Given the description of an element on the screen output the (x, y) to click on. 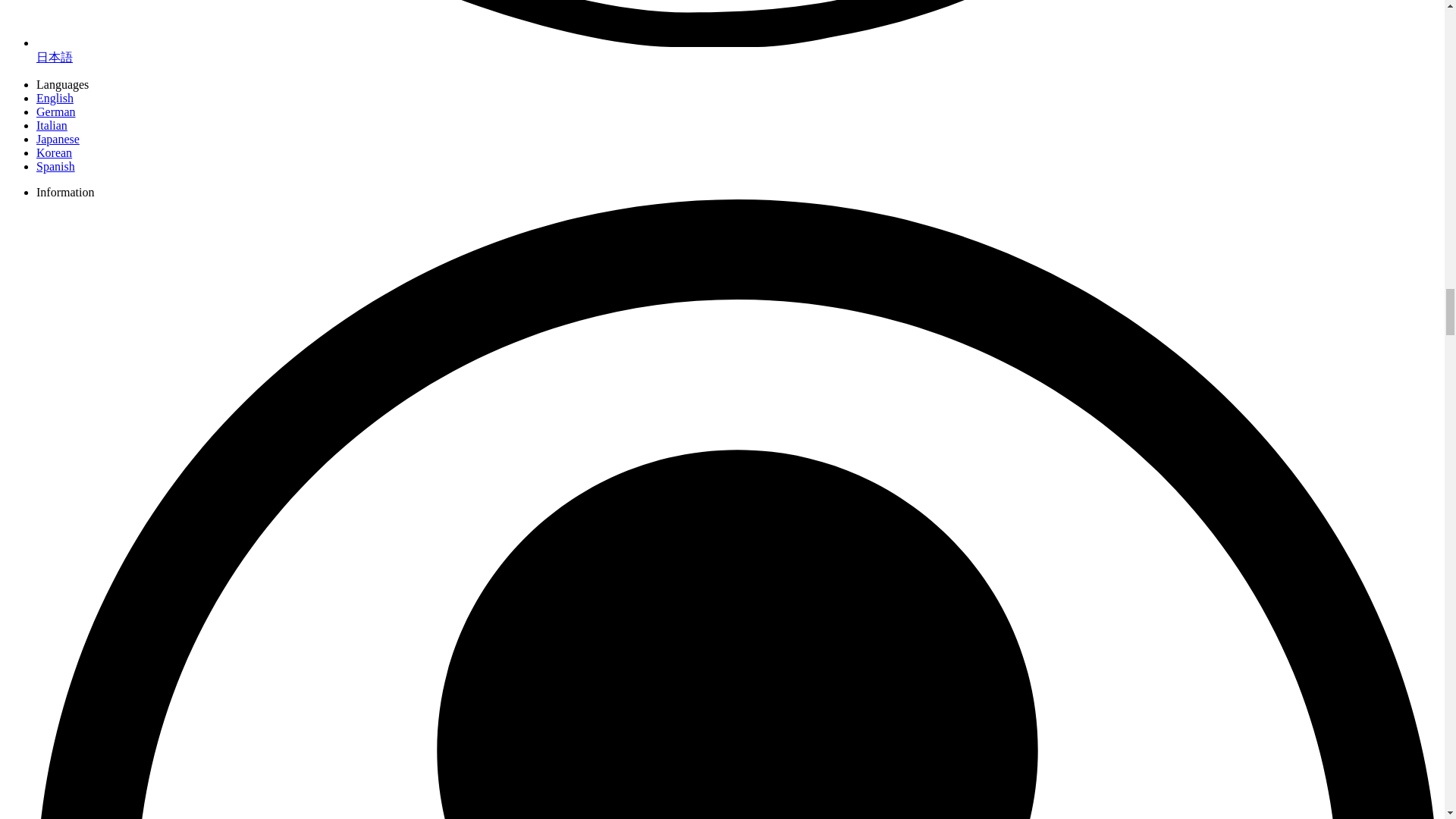
Spanish (55, 165)
Korean (53, 152)
German (55, 111)
Italian (51, 124)
Japanese (58, 138)
English (55, 97)
